Given the description of an element on the screen output the (x, y) to click on. 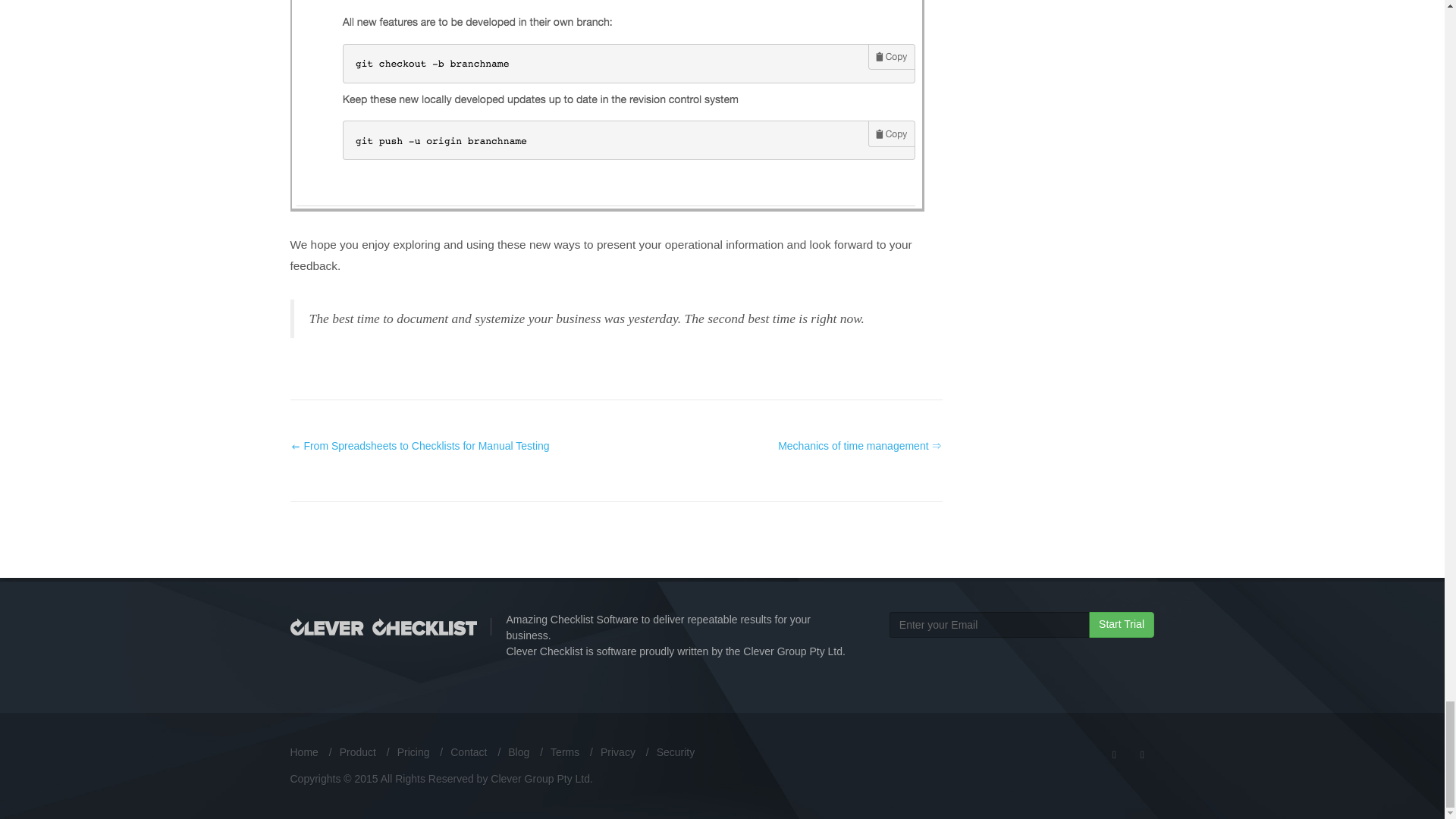
Blog (518, 752)
Security (675, 752)
Home (303, 752)
Privacy (616, 752)
Product (357, 752)
Pricing (413, 752)
Contact (467, 752)
Start Trial (1121, 624)
Terms (564, 752)
